Given the description of an element on the screen output the (x, y) to click on. 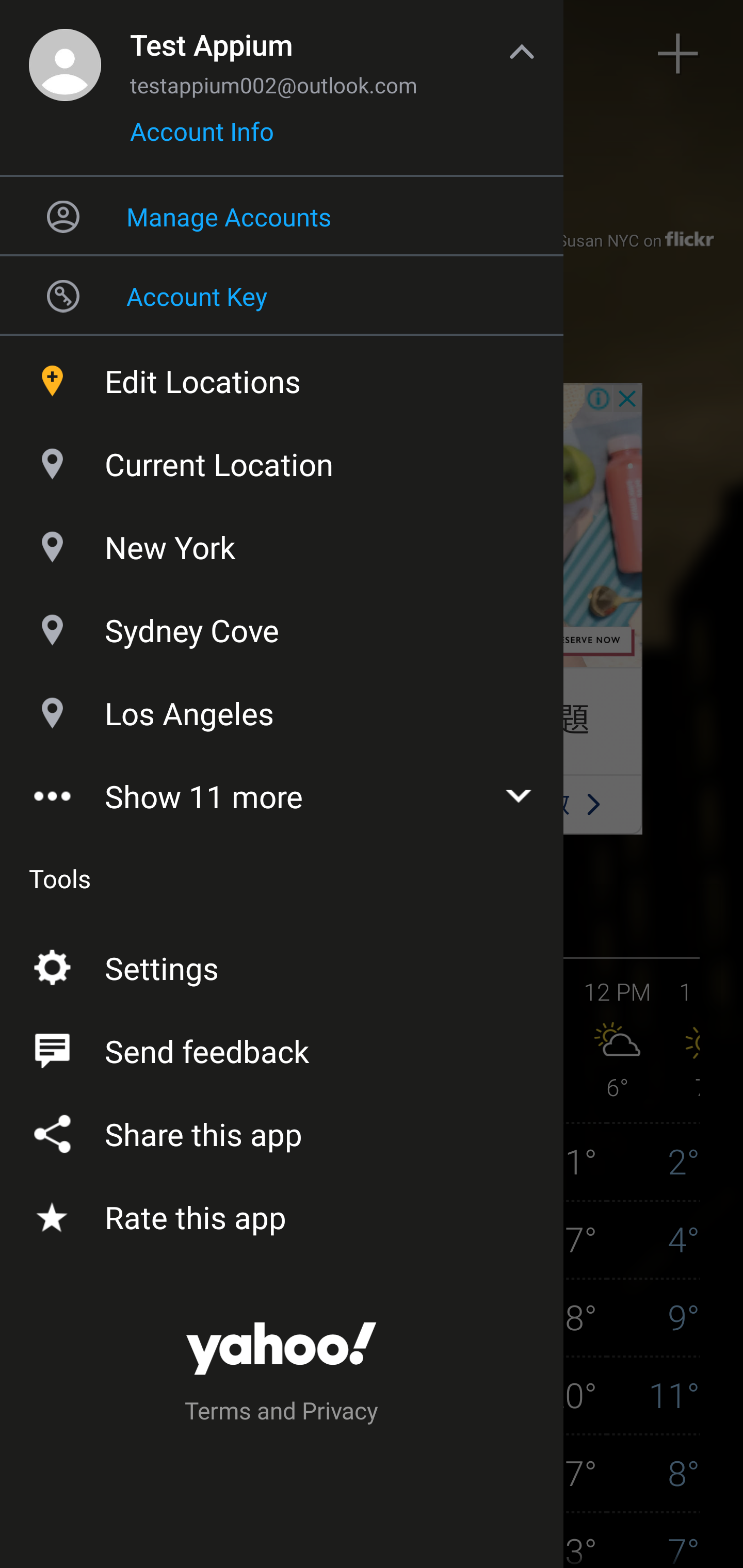
Sidebar (64, 54)
Manage Accounts (281, 216)
Account Key (281, 295)
Edit Locations (281, 376)
Current Location (281, 459)
New York (281, 542)
Sydney Cove (281, 625)
Los Angeles (281, 709)
Settings (281, 963)
Send feedback (281, 1046)
Share this app (281, 1129)
Terms and Privacy Terms and privacy button (281, 1413)
